Given the description of an element on the screen output the (x, y) to click on. 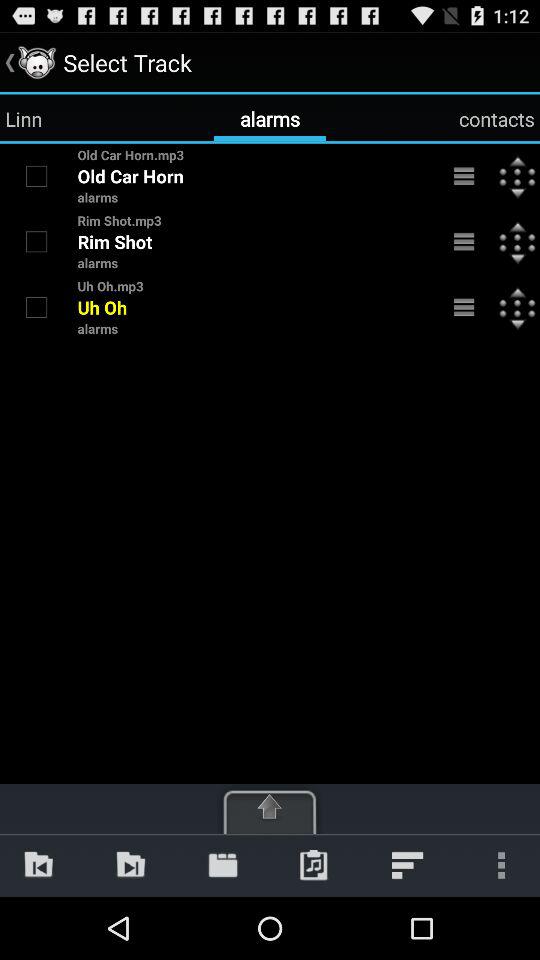
select rim shot (36, 241)
